Given the description of an element on the screen output the (x, y) to click on. 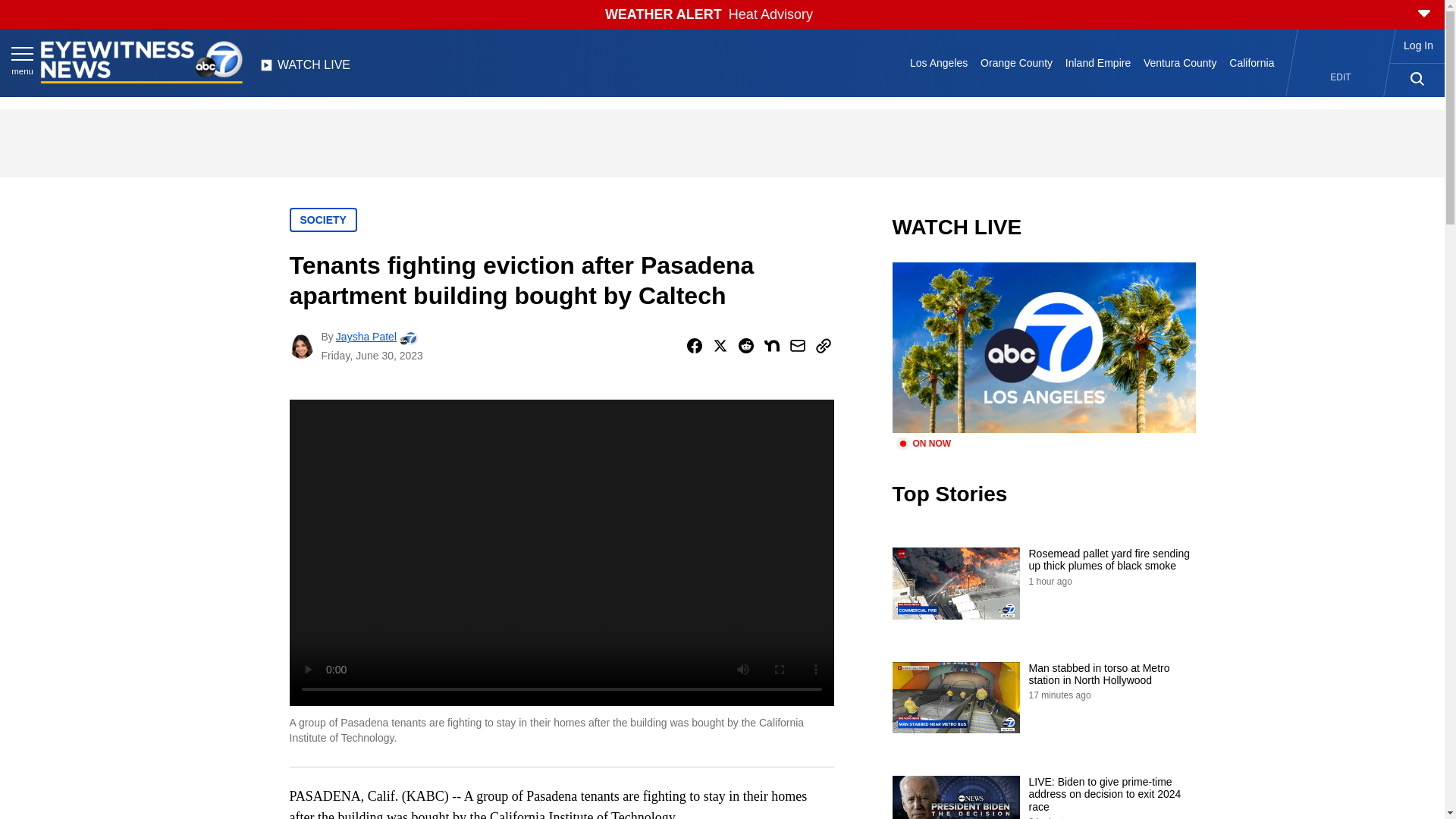
Ventura County (1180, 62)
Los Angeles (939, 62)
WATCH LIVE (305, 69)
Orange County (1016, 62)
Inland Empire (1097, 62)
California (1252, 62)
EDIT (1340, 77)
